Given the description of an element on the screen output the (x, y) to click on. 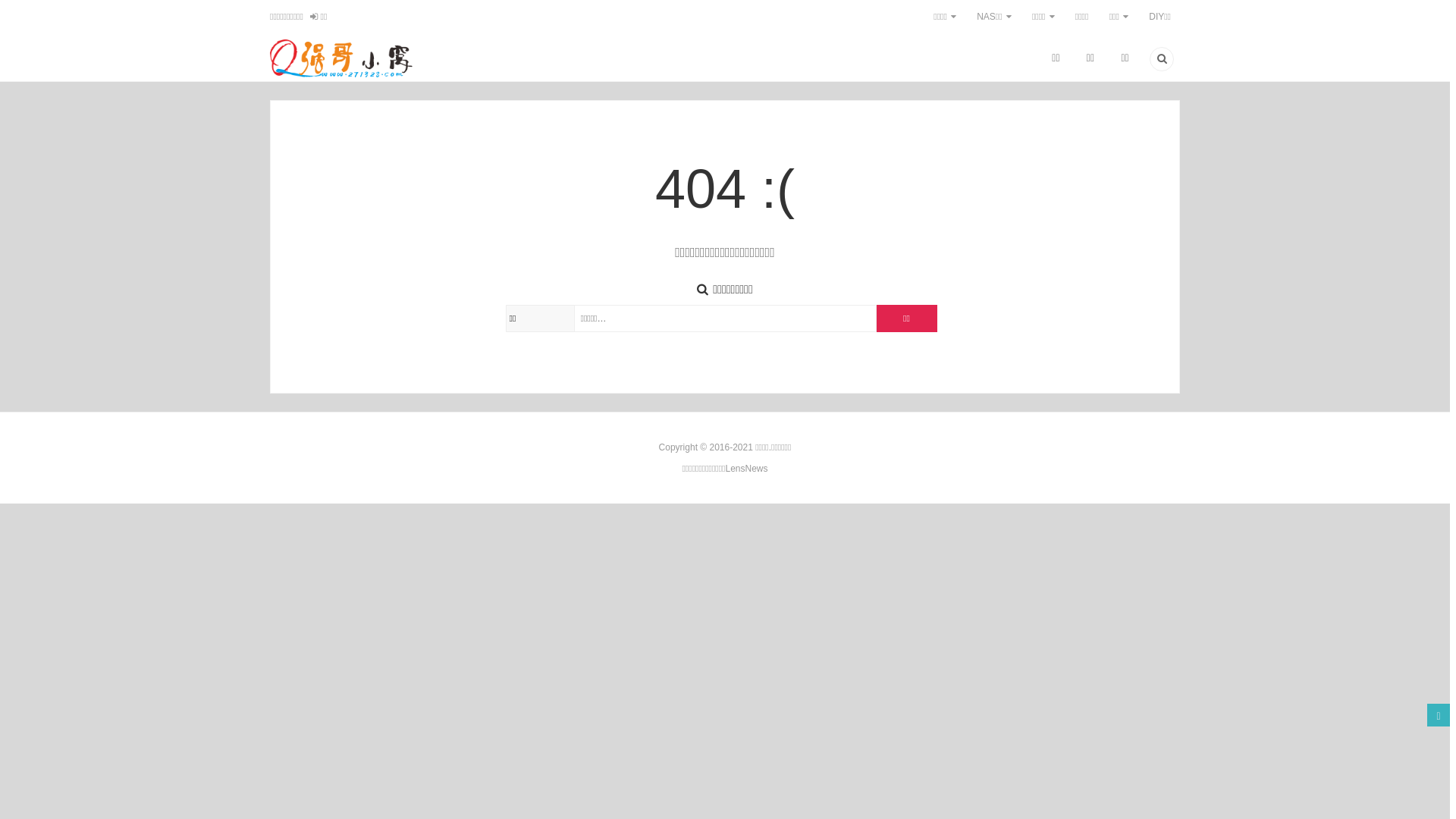
LensNews Element type: text (745, 468)
